Given the description of an element on the screen output the (x, y) to click on. 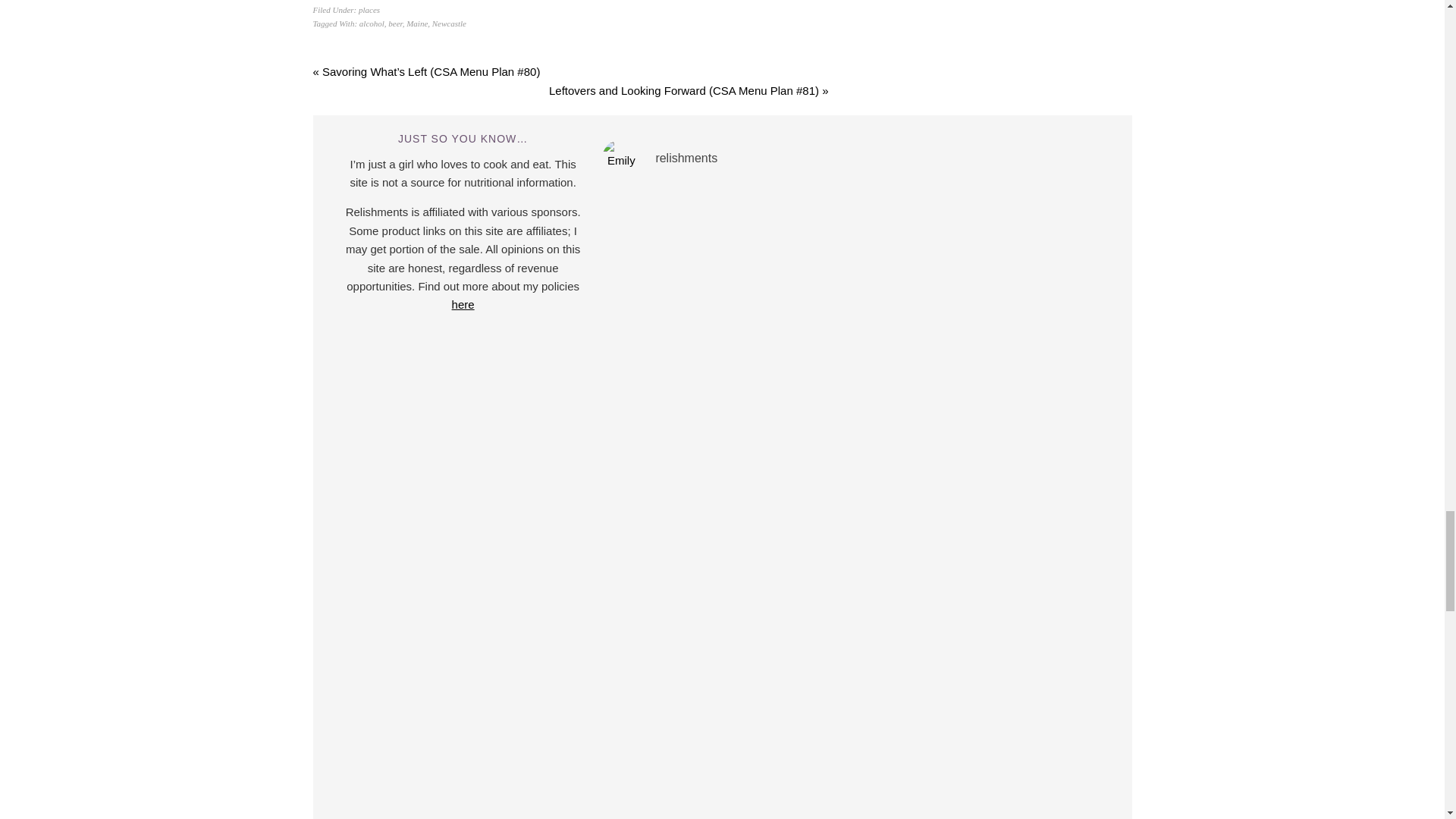
alcohol (371, 22)
beer (394, 22)
Maine (417, 22)
Newcastle (448, 22)
places (369, 9)
